Given the description of an element on the screen output the (x, y) to click on. 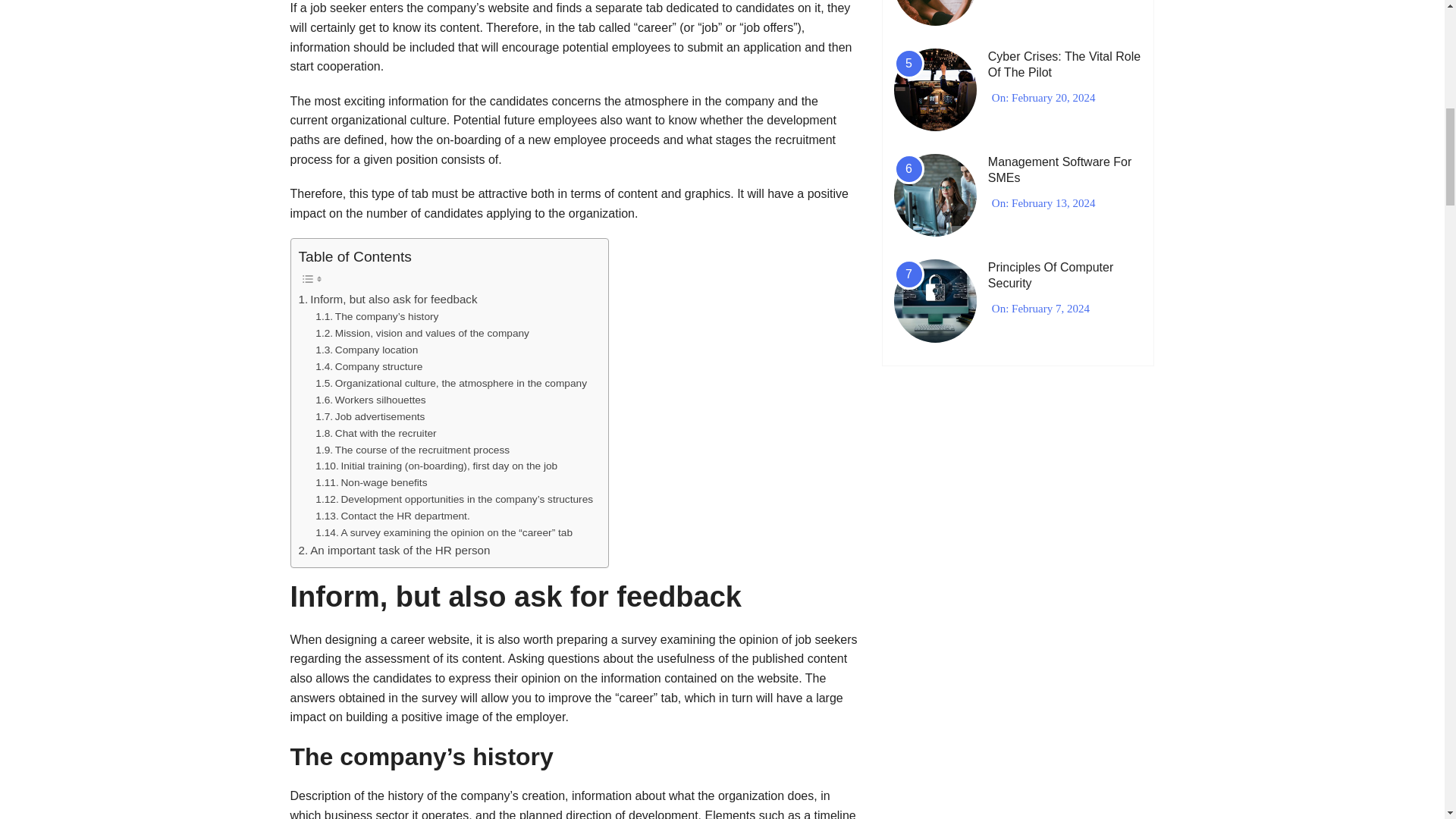
The course of the recruitment process (412, 450)
Non-wage benefits (370, 483)
Inform, but also ask for feedback (387, 299)
Contact the HR department. (391, 515)
The course of the recruitment process (412, 450)
Chat with the recruiter (375, 433)
Job advertisements (370, 416)
Organizational culture, the atmosphere in the company (450, 383)
Inform, but also ask for feedback (387, 299)
Organizational culture, the atmosphere in the company (450, 383)
